Given the description of an element on the screen output the (x, y) to click on. 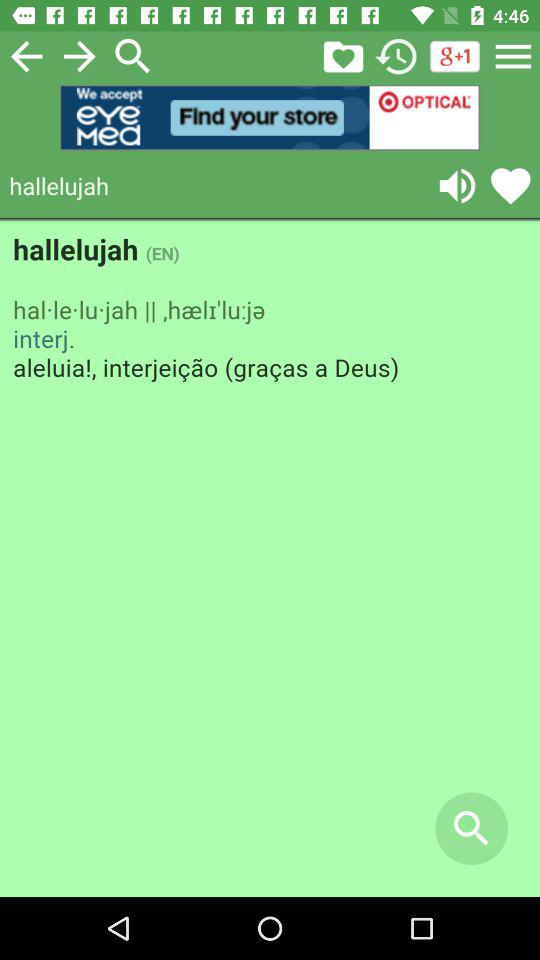
go to speaker option (457, 185)
